Given the description of an element on the screen output the (x, y) to click on. 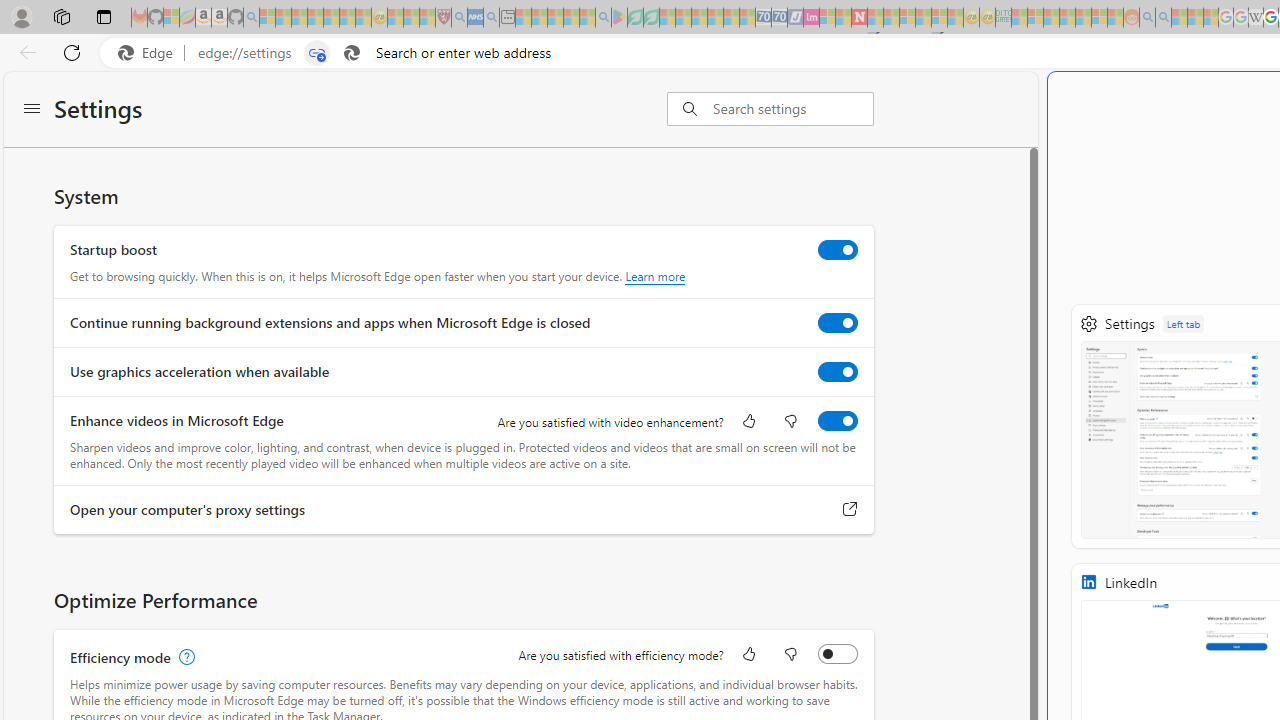
Edge (150, 53)
Startup boost (837, 249)
